Given the description of an element on the screen output the (x, y) to click on. 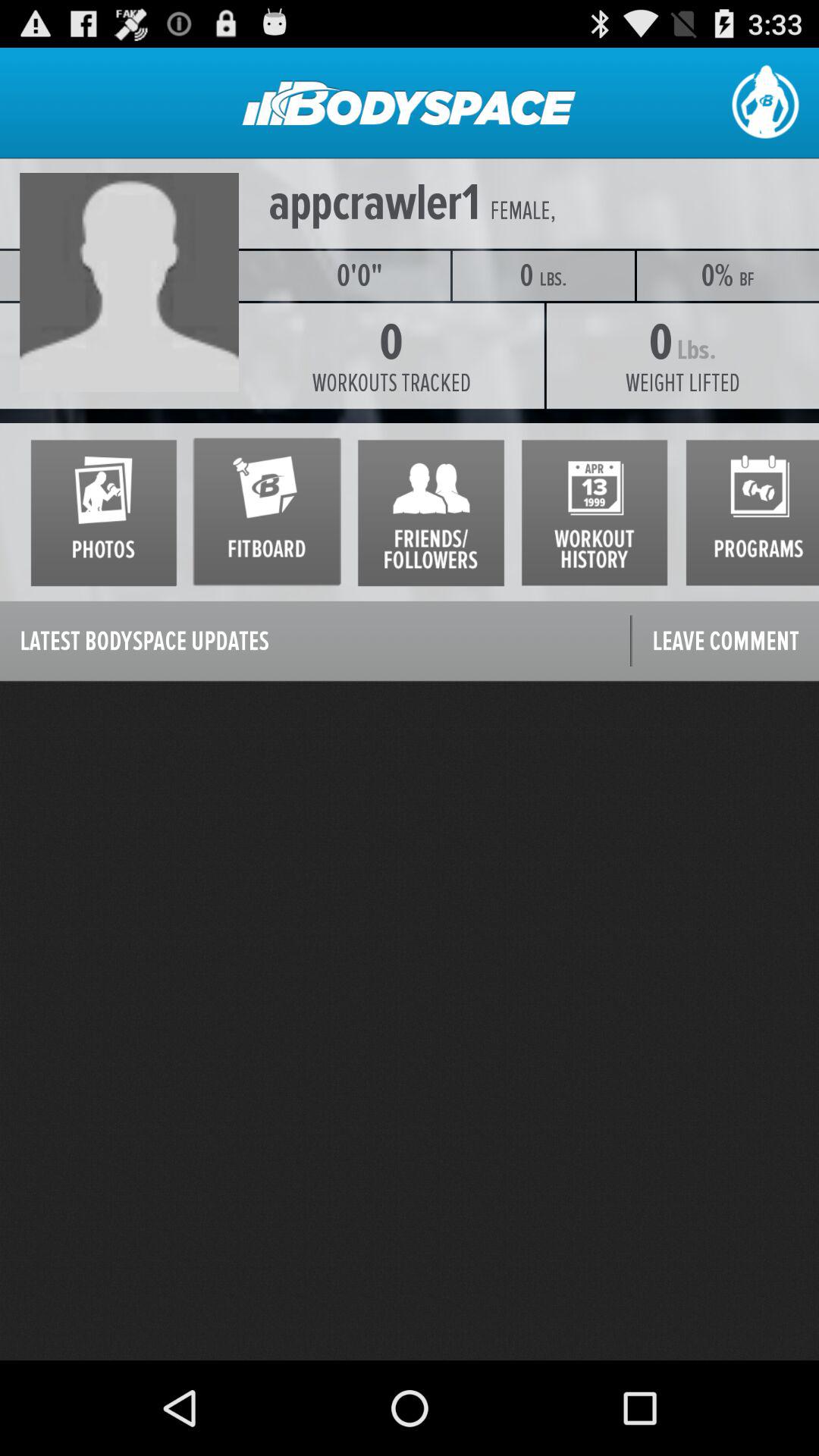
turn off item to the right of 0 item (682, 382)
